Given the description of an element on the screen output the (x, y) to click on. 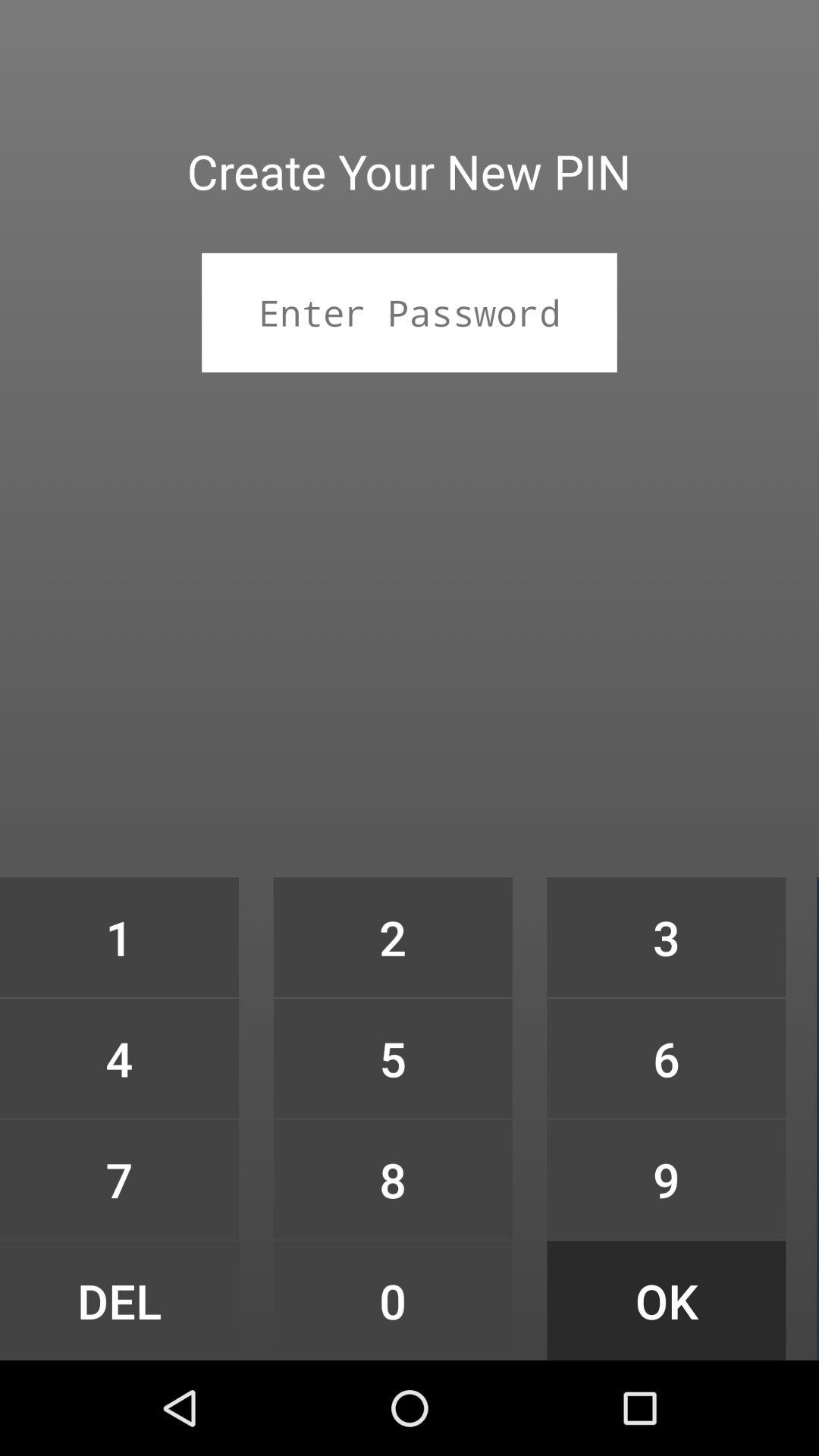
jump to the del icon (119, 1300)
